Given the description of an element on the screen output the (x, y) to click on. 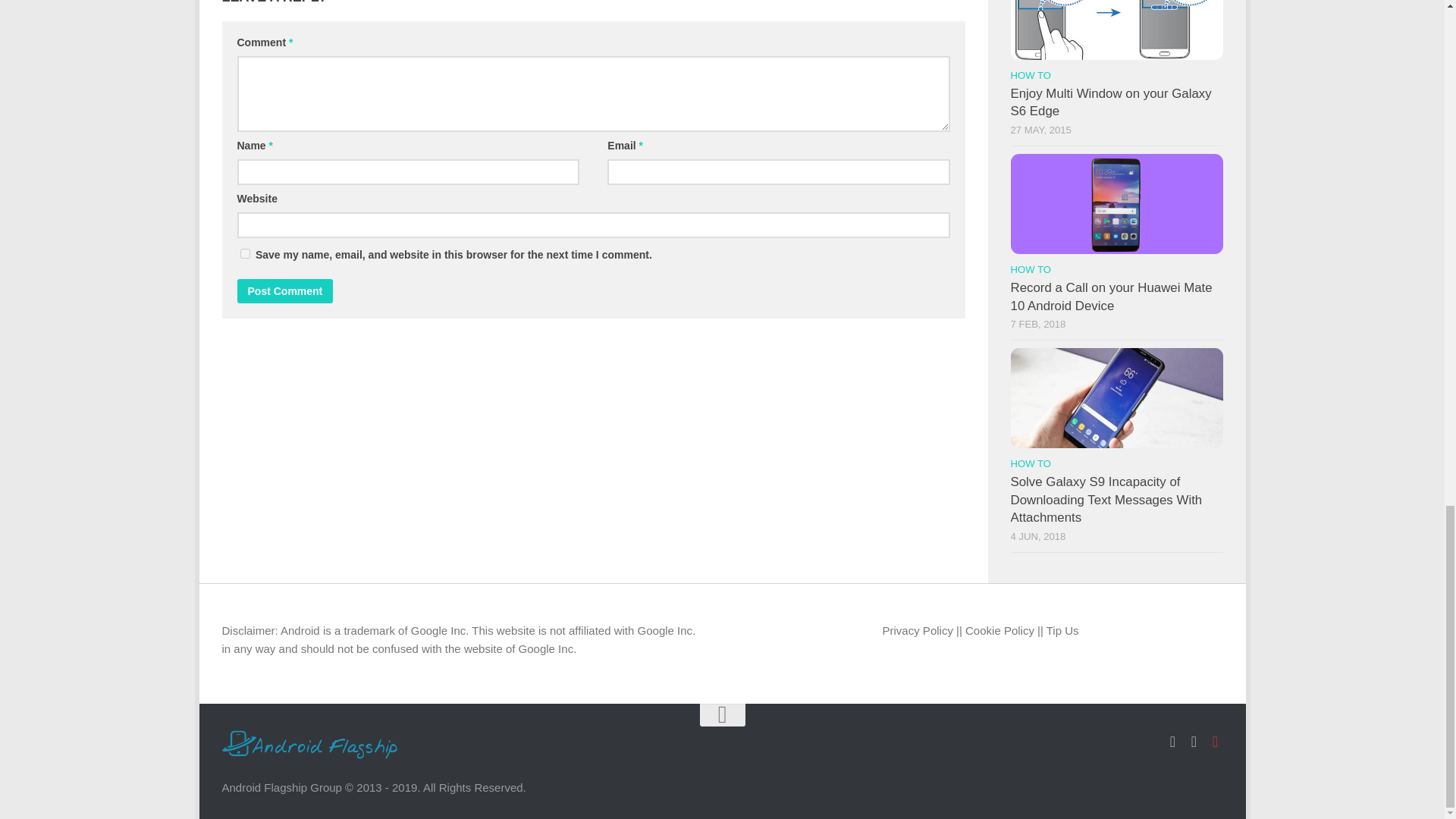
Post Comment (284, 291)
yes (244, 253)
Post Comment (284, 291)
